Given the description of an element on the screen output the (x, y) to click on. 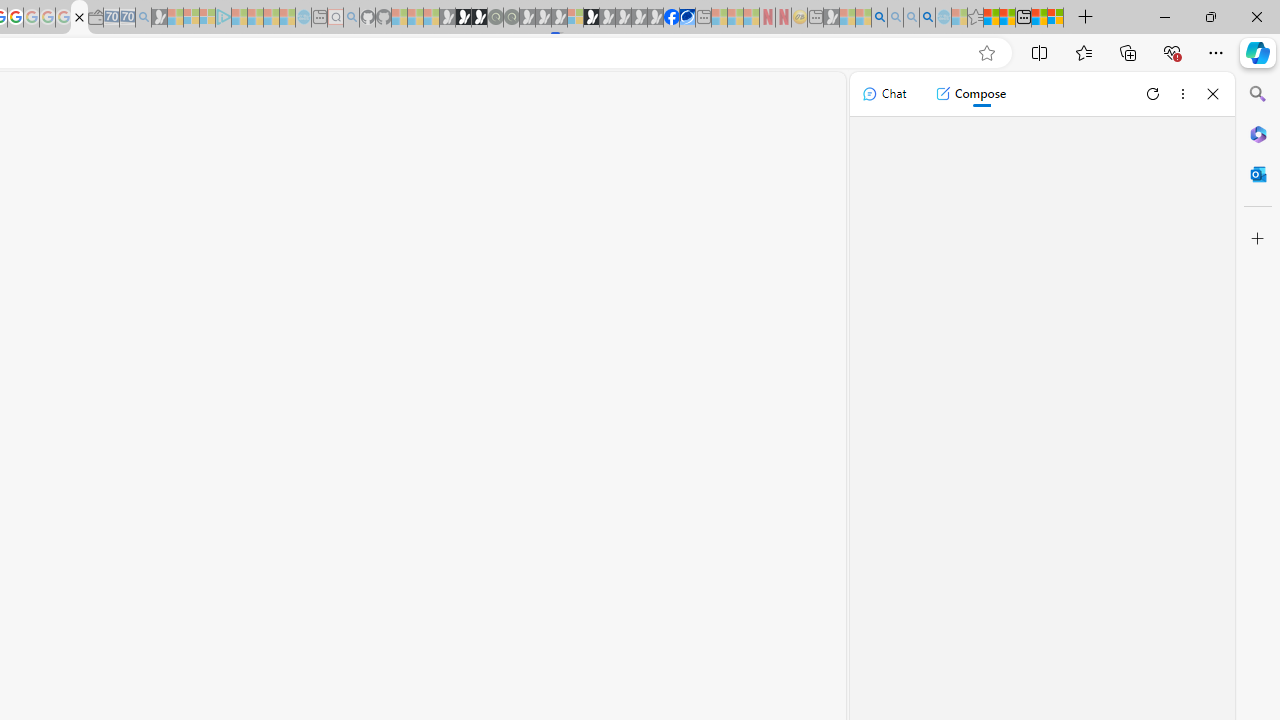
Future Focus Report 2024 - Sleeping (511, 17)
